Given the description of an element on the screen output the (x, y) to click on. 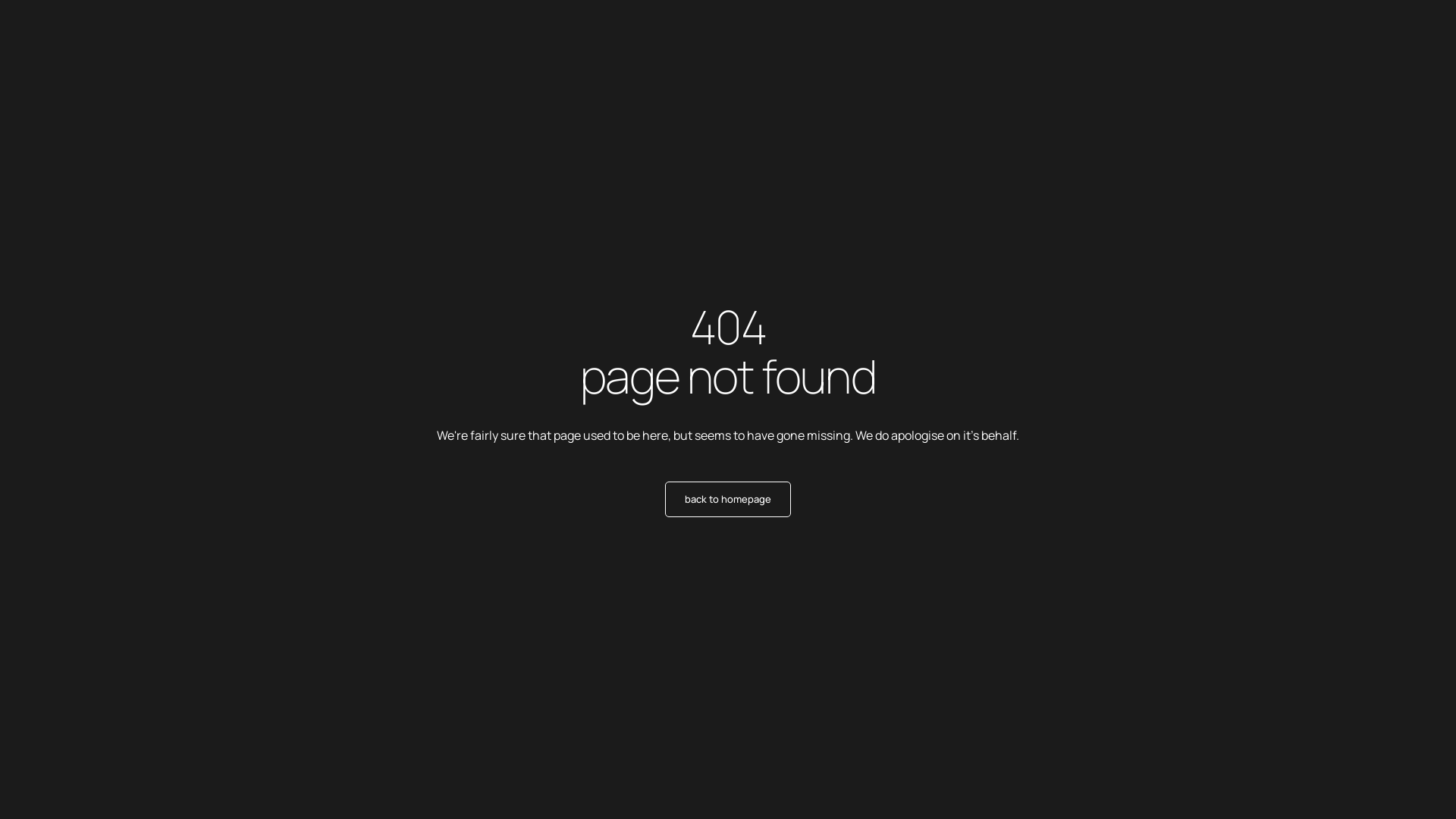
back to homepage Element type: text (727, 499)
